Given the description of an element on the screen output the (x, y) to click on. 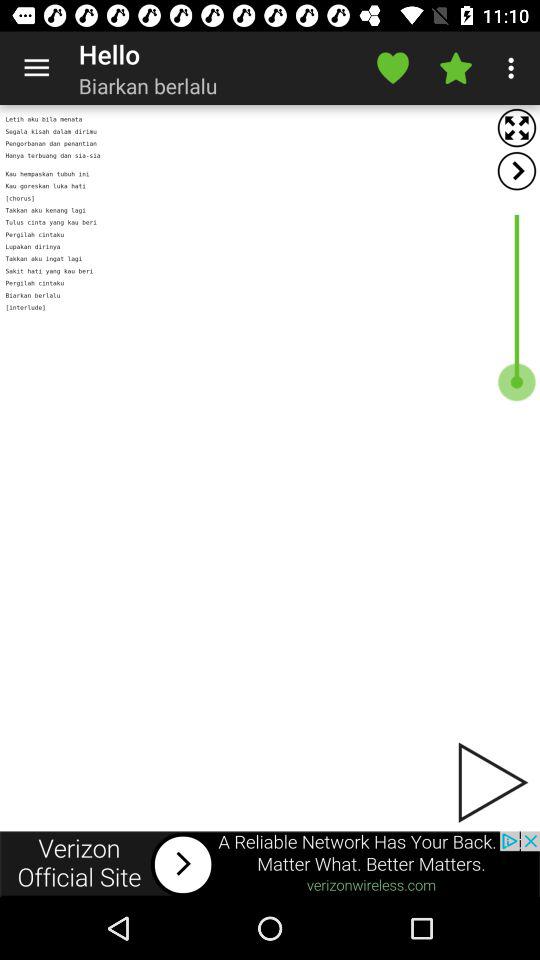
go to options page (516, 170)
